Given the description of an element on the screen output the (x, y) to click on. 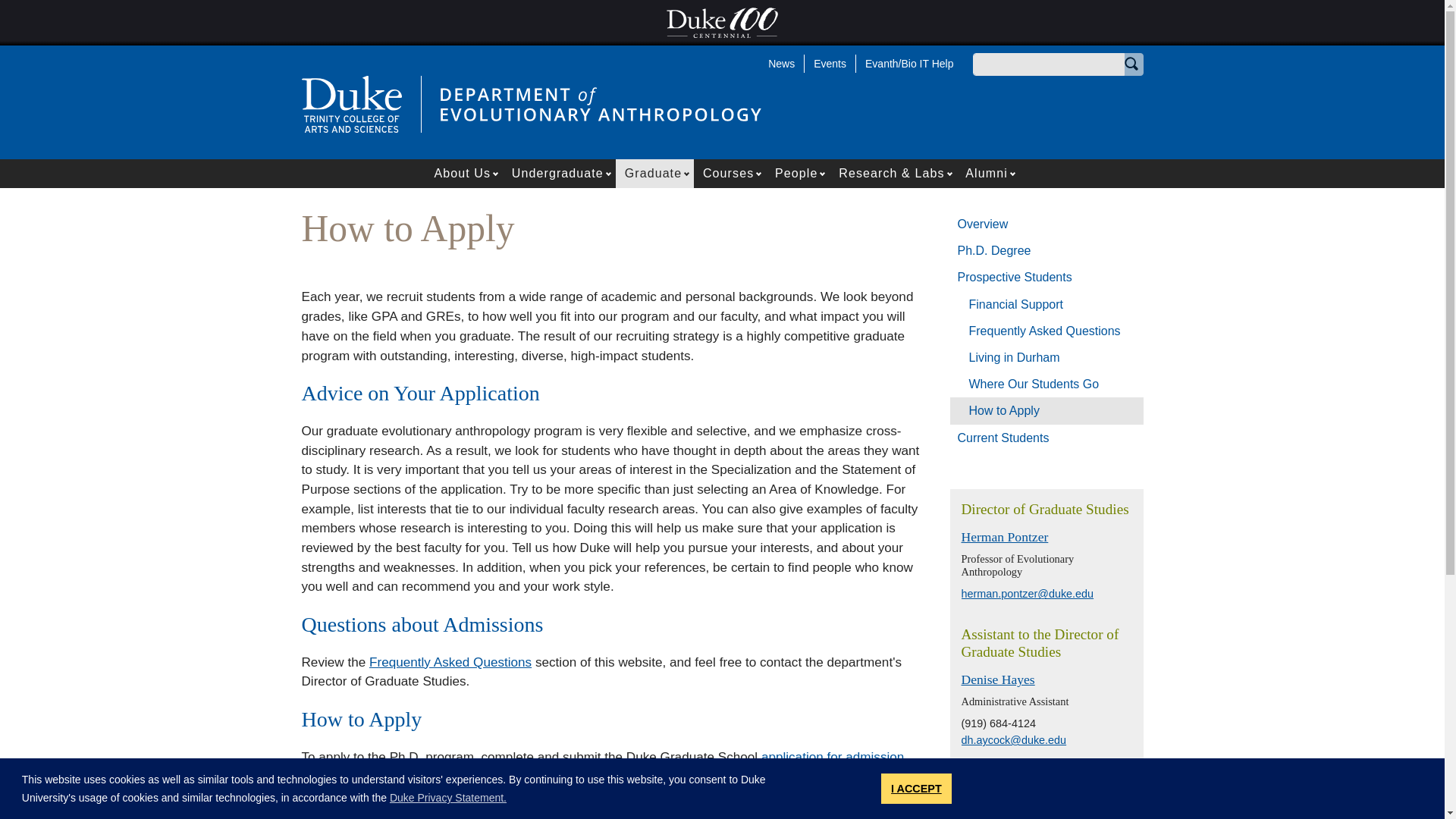
Duke University - Trinity College of Arts and Sciences (351, 103)
I ACCEPT (916, 788)
Duke Privacy Statement. (448, 797)
